Given the description of an element on the screen output the (x, y) to click on. 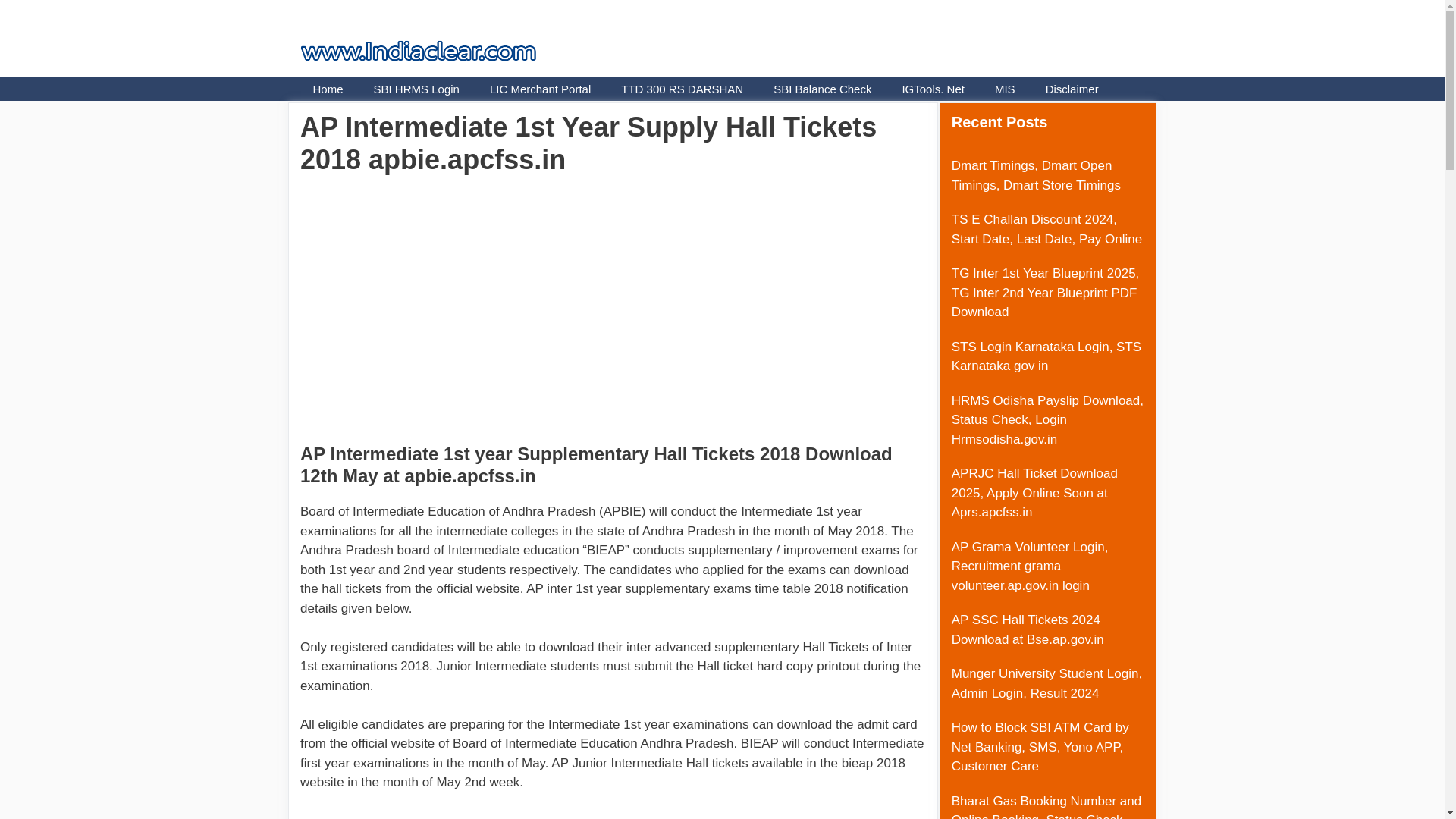
SBI Balance Check (822, 88)
INDIA CLEAR (358, 25)
Bharat Gas Booking Number and Online Booking, Status Check (1046, 806)
Home (327, 88)
AP SSC Hall Tickets 2024 Download at Bse.ap.gov.in (1027, 629)
Munger University Student Login, Admin Login, Result 2024 (1046, 683)
Dmart Timings, Dmart Open Timings, Dmart Store Timings (1036, 175)
3rd party ad content (614, 815)
